Given the description of an element on the screen output the (x, y) to click on. 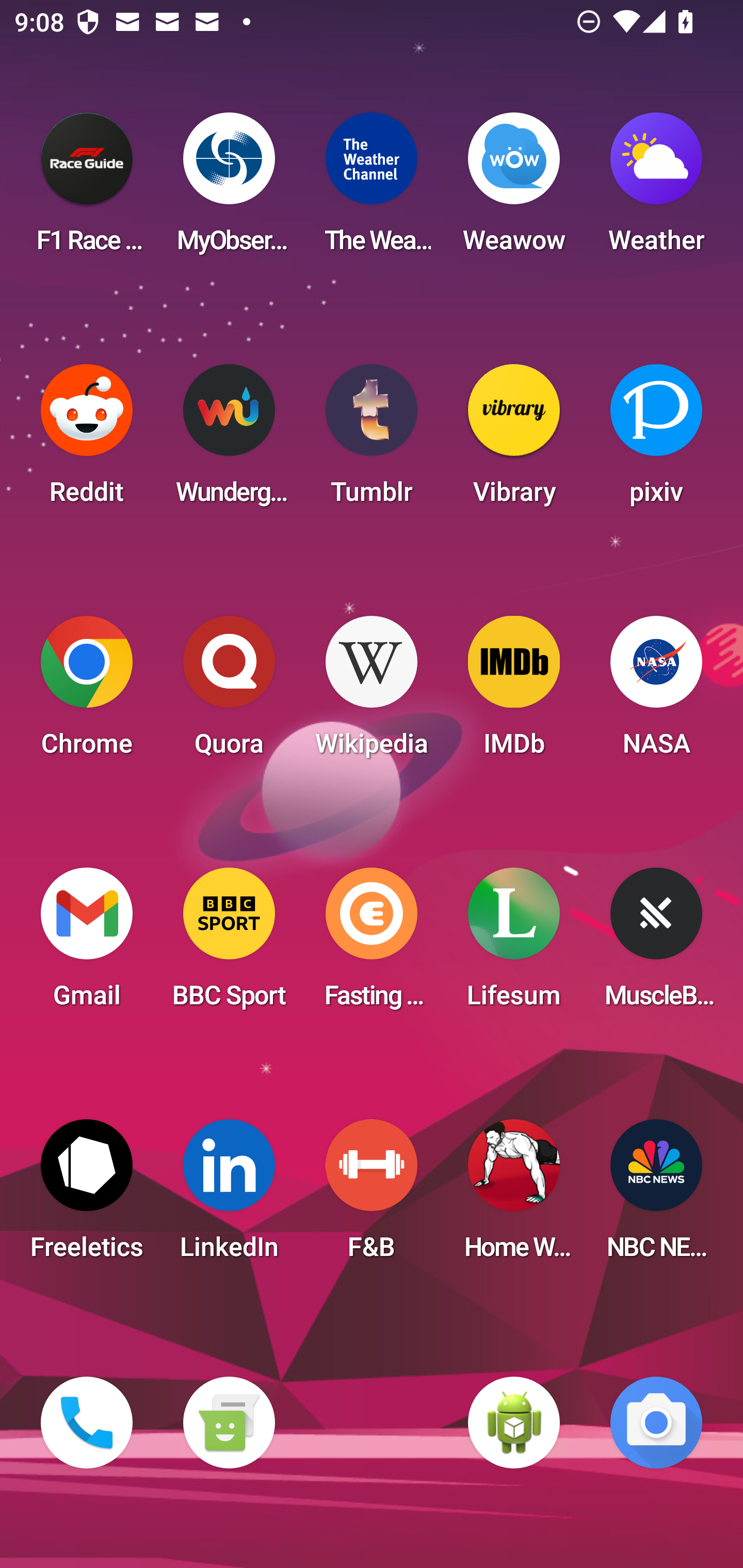
F1 Race Guide (86, 188)
MyObservatory (228, 188)
The Weather Channel (371, 188)
Weawow (513, 188)
Weather (656, 188)
Reddit (86, 440)
Wunderground (228, 440)
Tumblr (371, 440)
Vibrary (513, 440)
pixiv (656, 440)
Chrome (86, 692)
Quora (228, 692)
Wikipedia (371, 692)
IMDb (513, 692)
NASA (656, 692)
Gmail (86, 943)
BBC Sport (228, 943)
Fasting Coach (371, 943)
Lifesum (513, 943)
MuscleBooster (656, 943)
Freeletics (86, 1195)
LinkedIn (228, 1195)
F&B (371, 1195)
Home Workout (513, 1195)
NBC NEWS (656, 1195)
Phone (86, 1422)
Messaging (228, 1422)
WebView Browser Tester (513, 1422)
Camera (656, 1422)
